Given the description of an element on the screen output the (x, y) to click on. 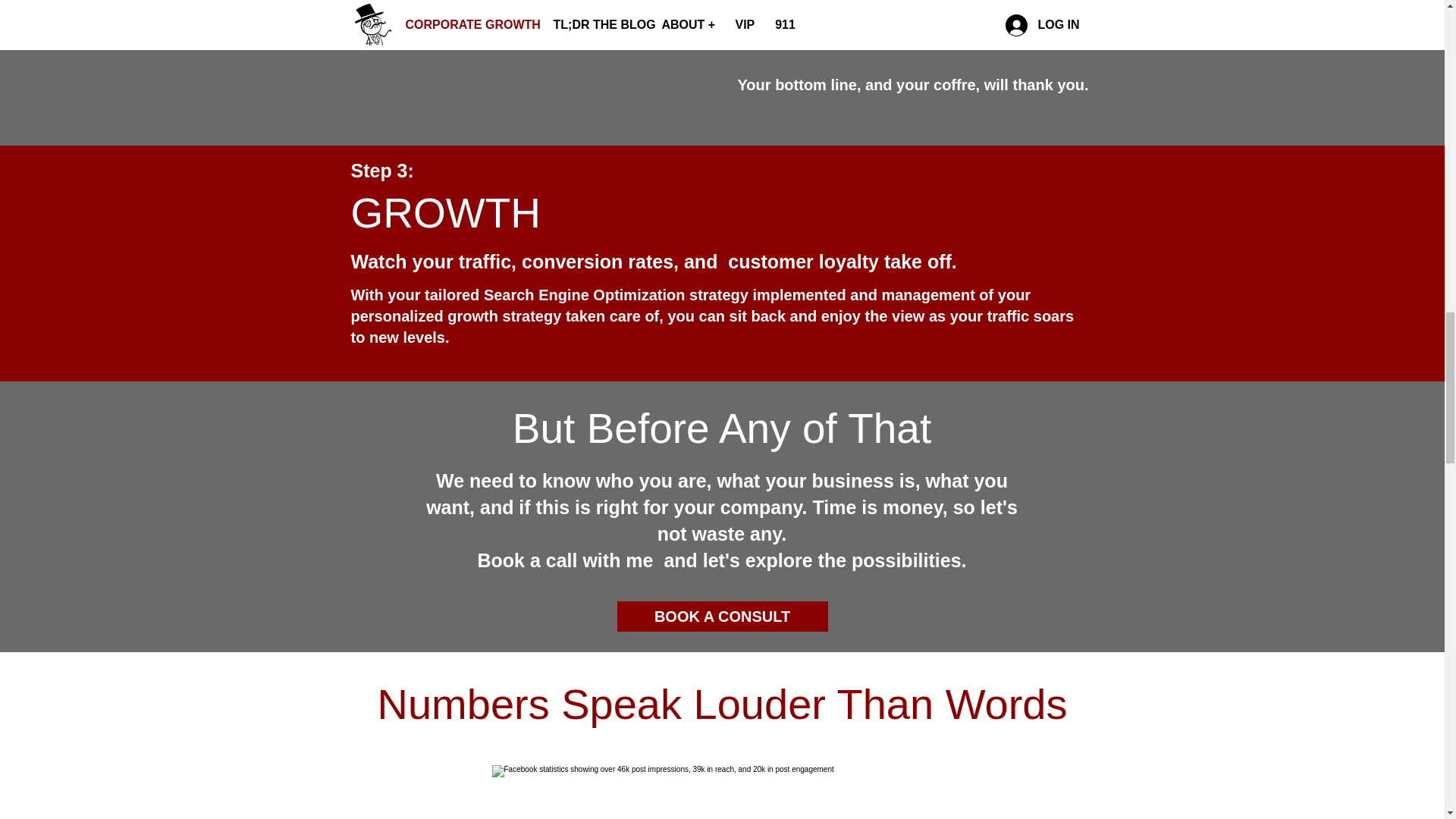
BOOK A CONSULT (722, 616)
